Given the description of an element on the screen output the (x, y) to click on. 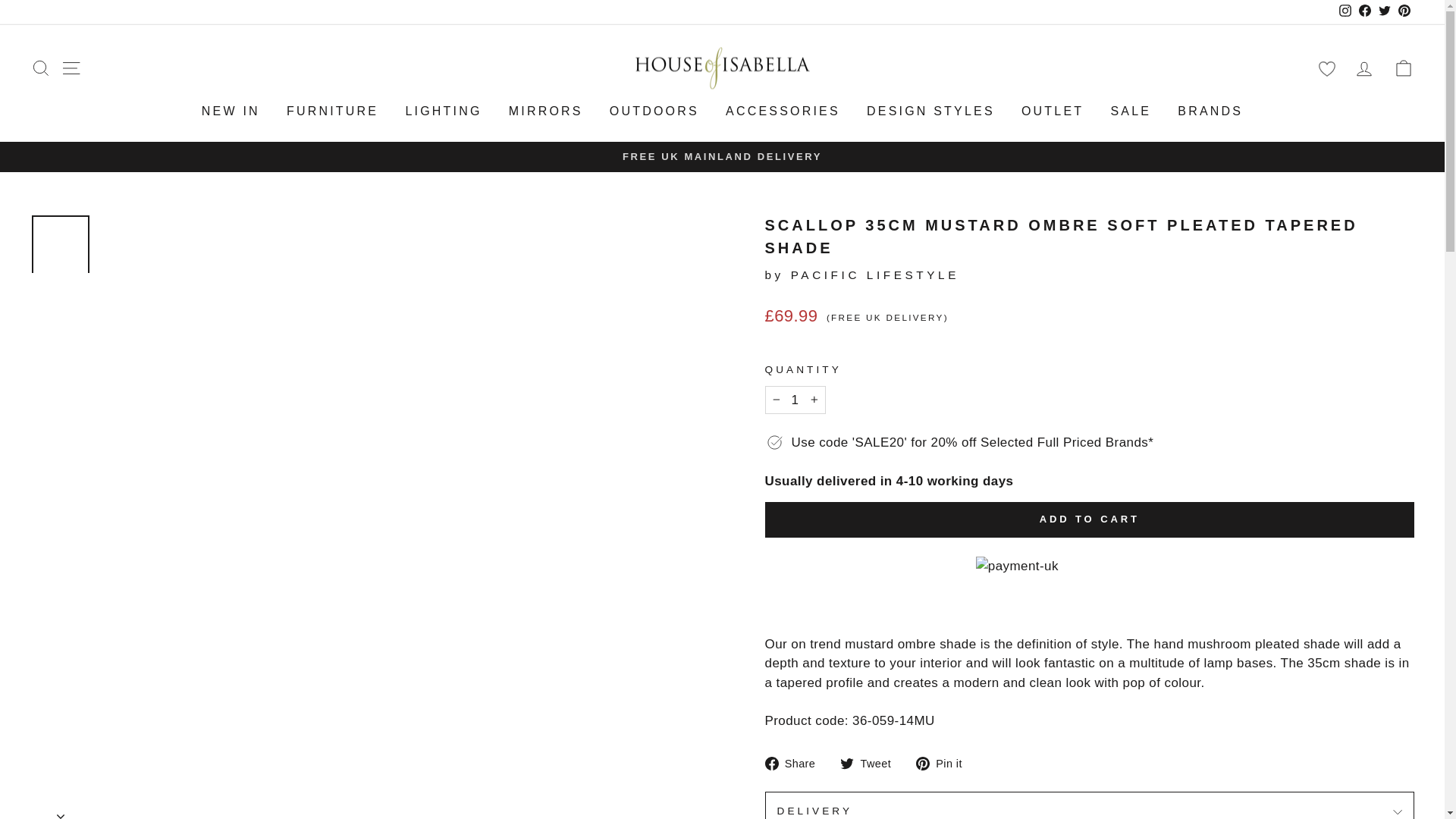
Pin on Pinterest (944, 763)
Share on Facebook (795, 763)
Tweet on Twitter (871, 763)
wishlist (1325, 68)
1 (794, 399)
